Given the description of an element on the screen output the (x, y) to click on. 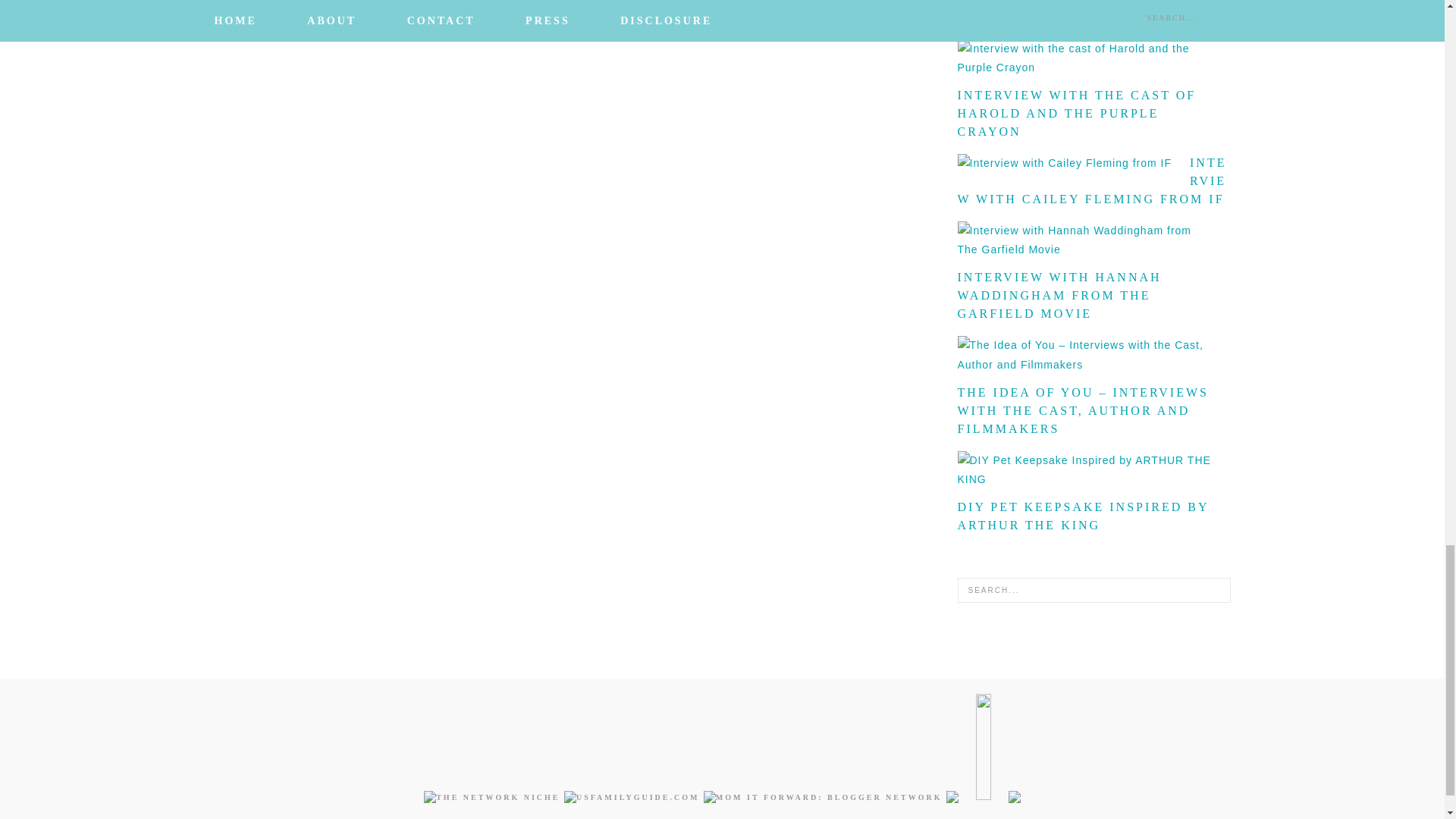
The Network Niche (491, 797)
I Have Massive Sway (954, 797)
